Given the description of an element on the screen output the (x, y) to click on. 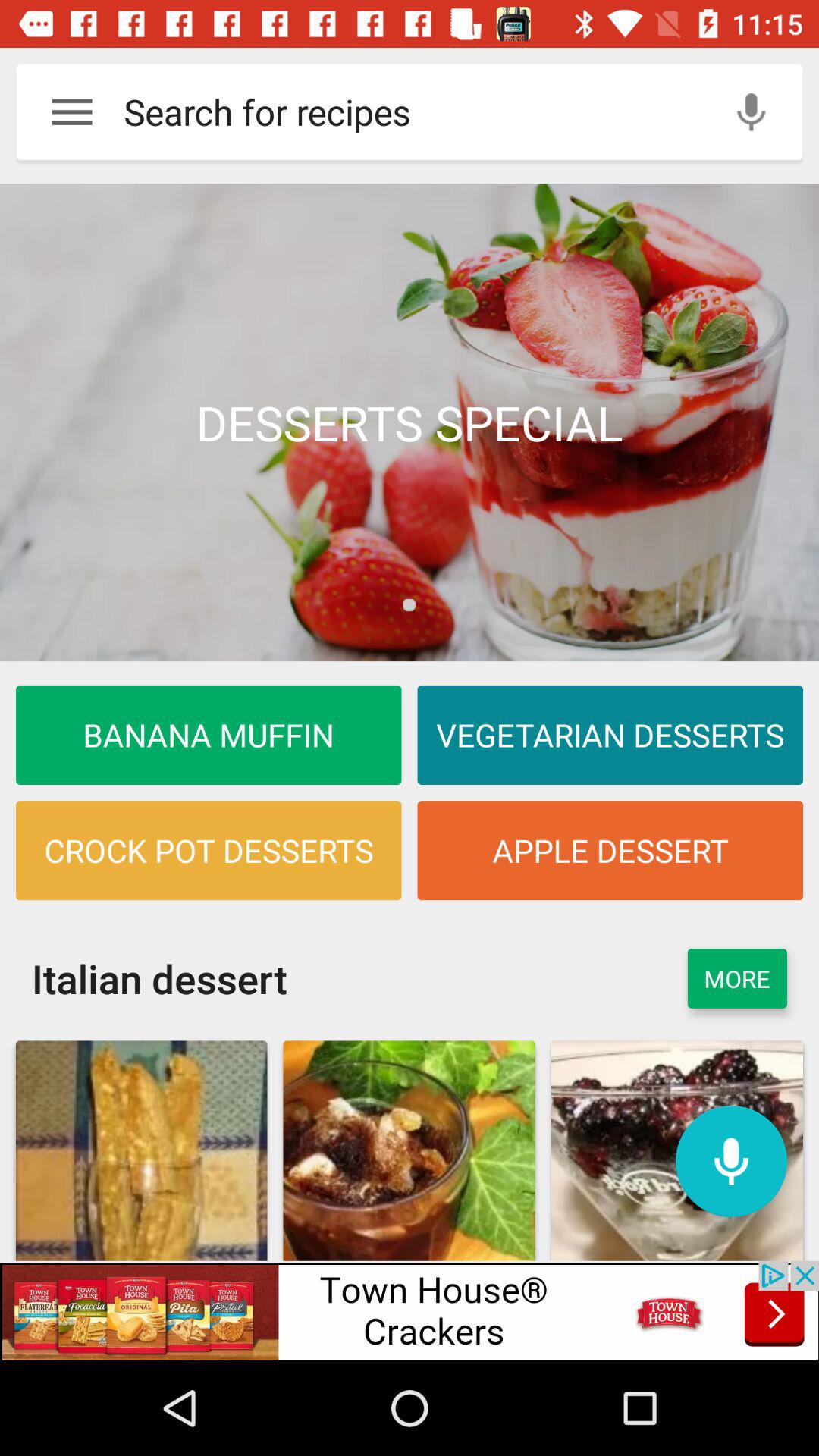
enter to voice (751, 111)
